Given the description of an element on the screen output the (x, y) to click on. 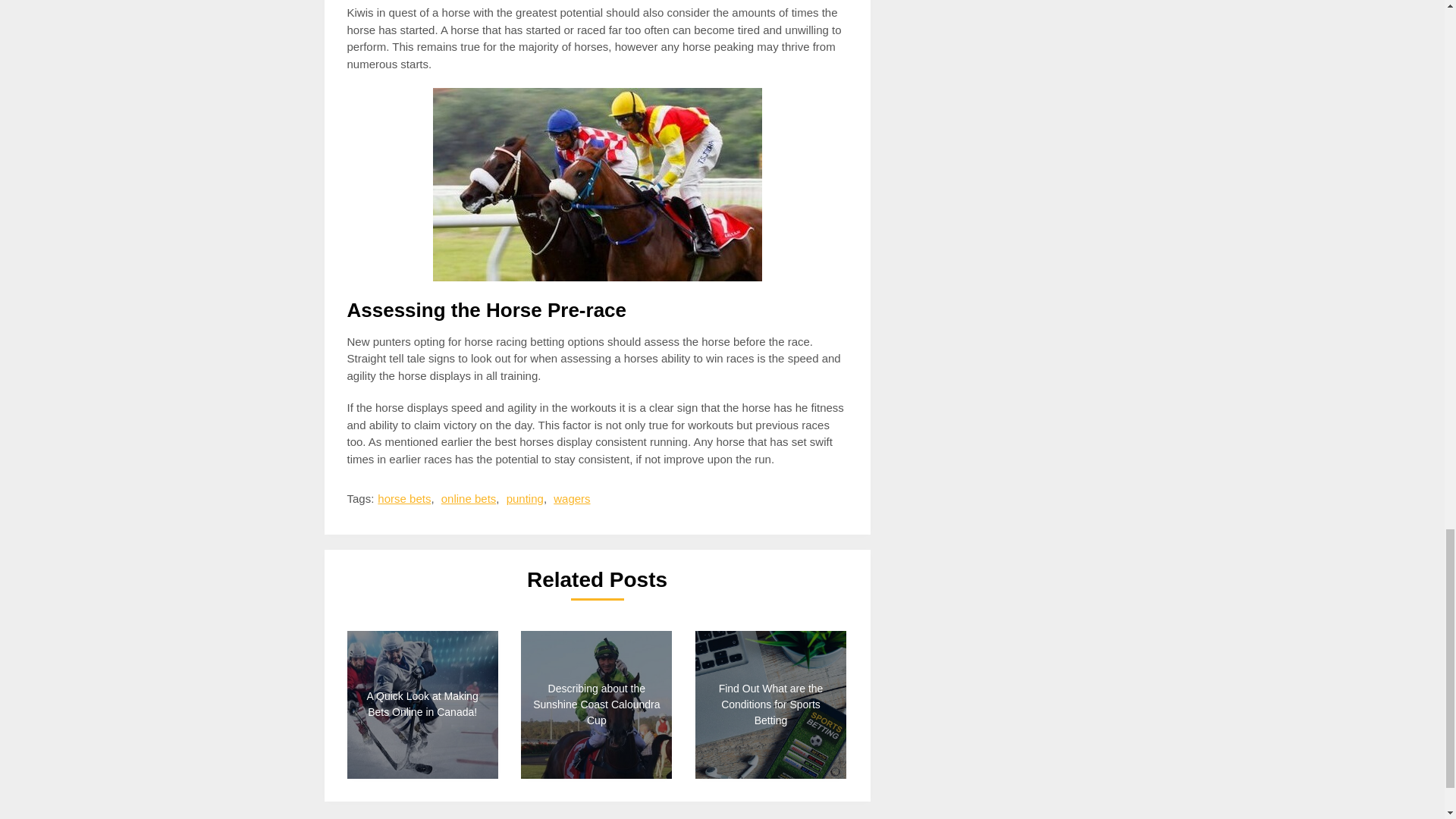
punting (524, 498)
online bets (468, 498)
wagers (571, 498)
horse bets (403, 498)
